Given the description of an element on the screen output the (x, y) to click on. 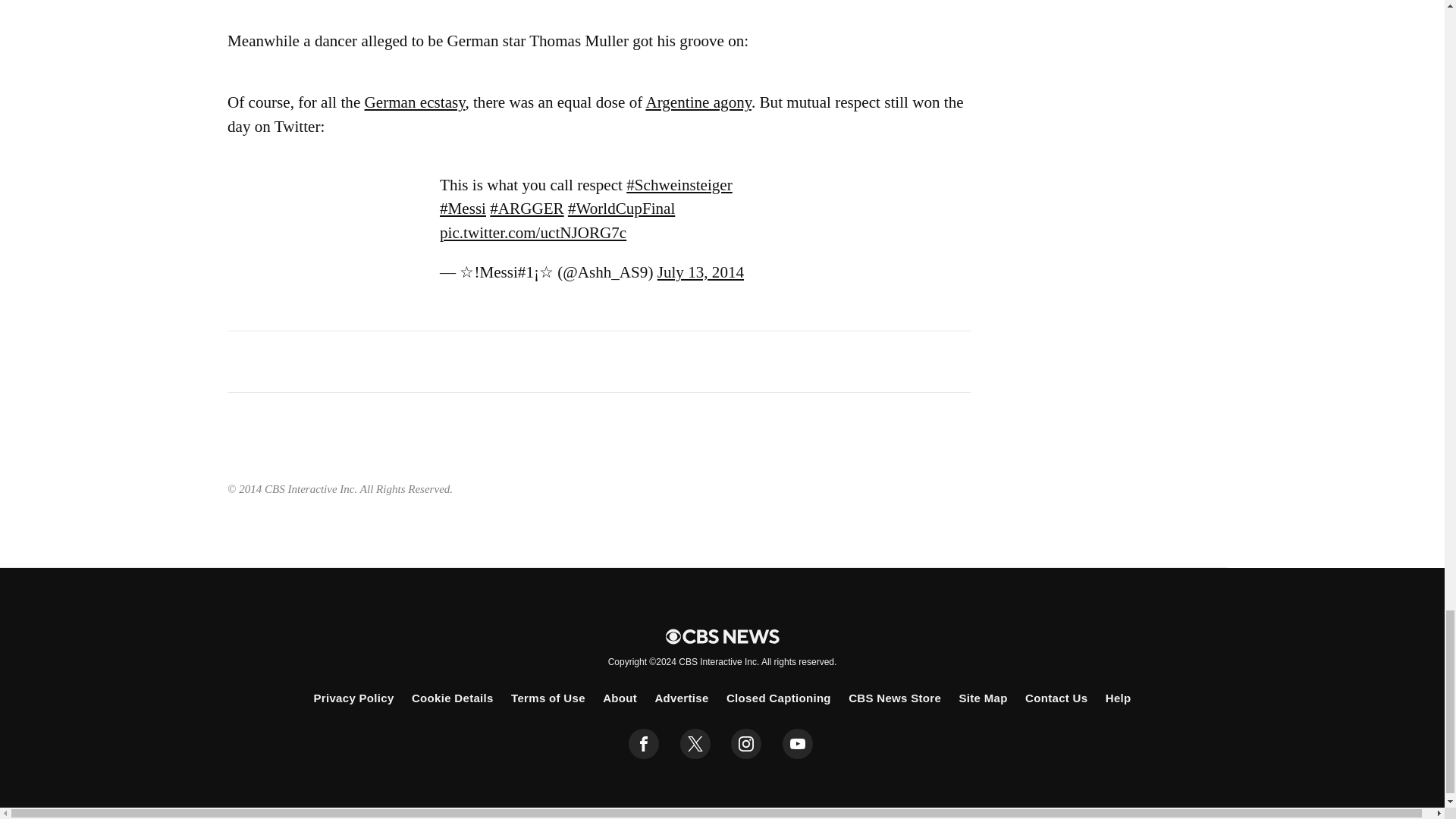
instagram (745, 743)
youtube (797, 743)
twitter (694, 743)
facebook (643, 743)
